Given the description of an element on the screen output the (x, y) to click on. 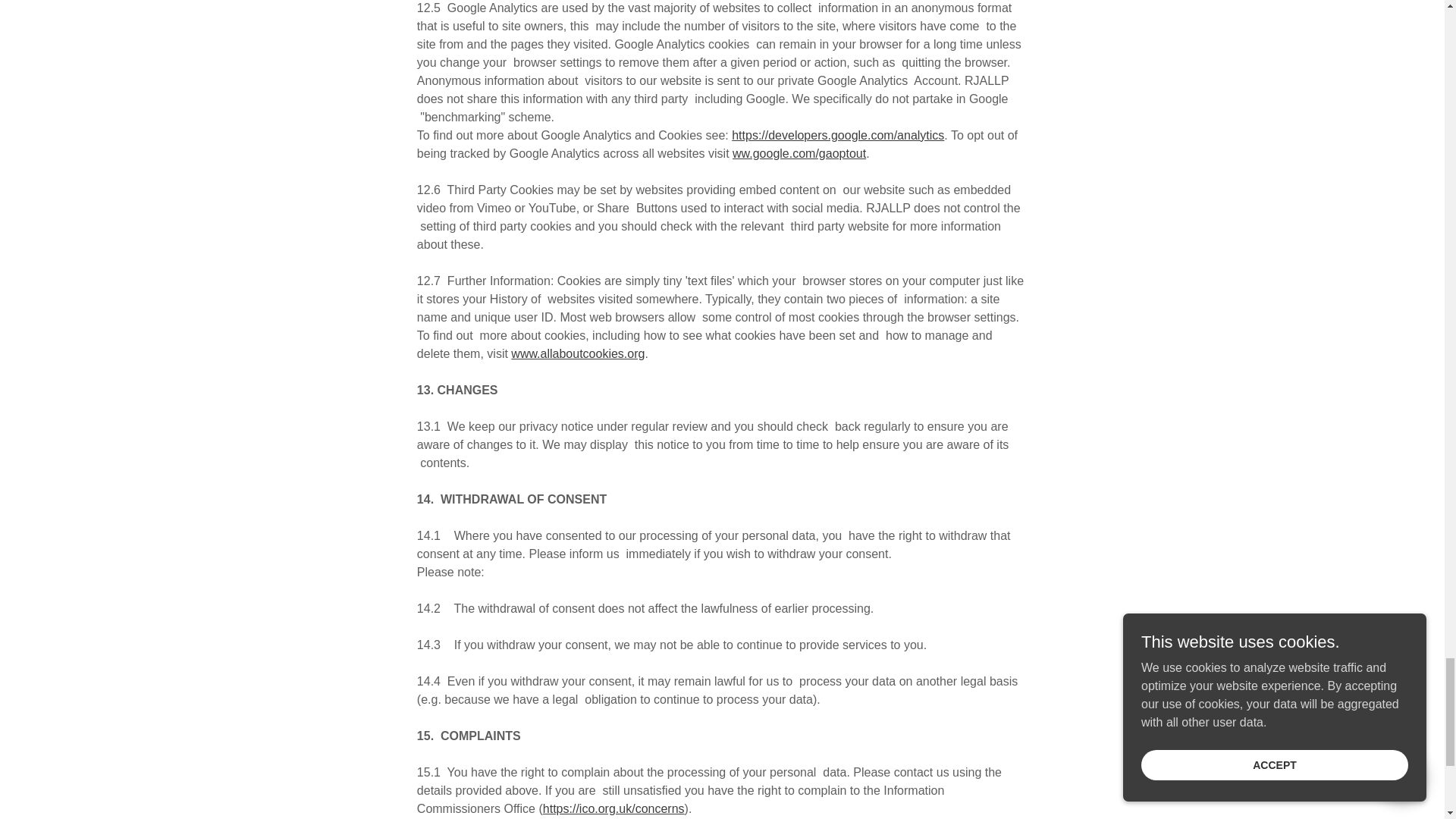
www.allaboutcookies.org (578, 353)
